Given the description of an element on the screen output the (x, y) to click on. 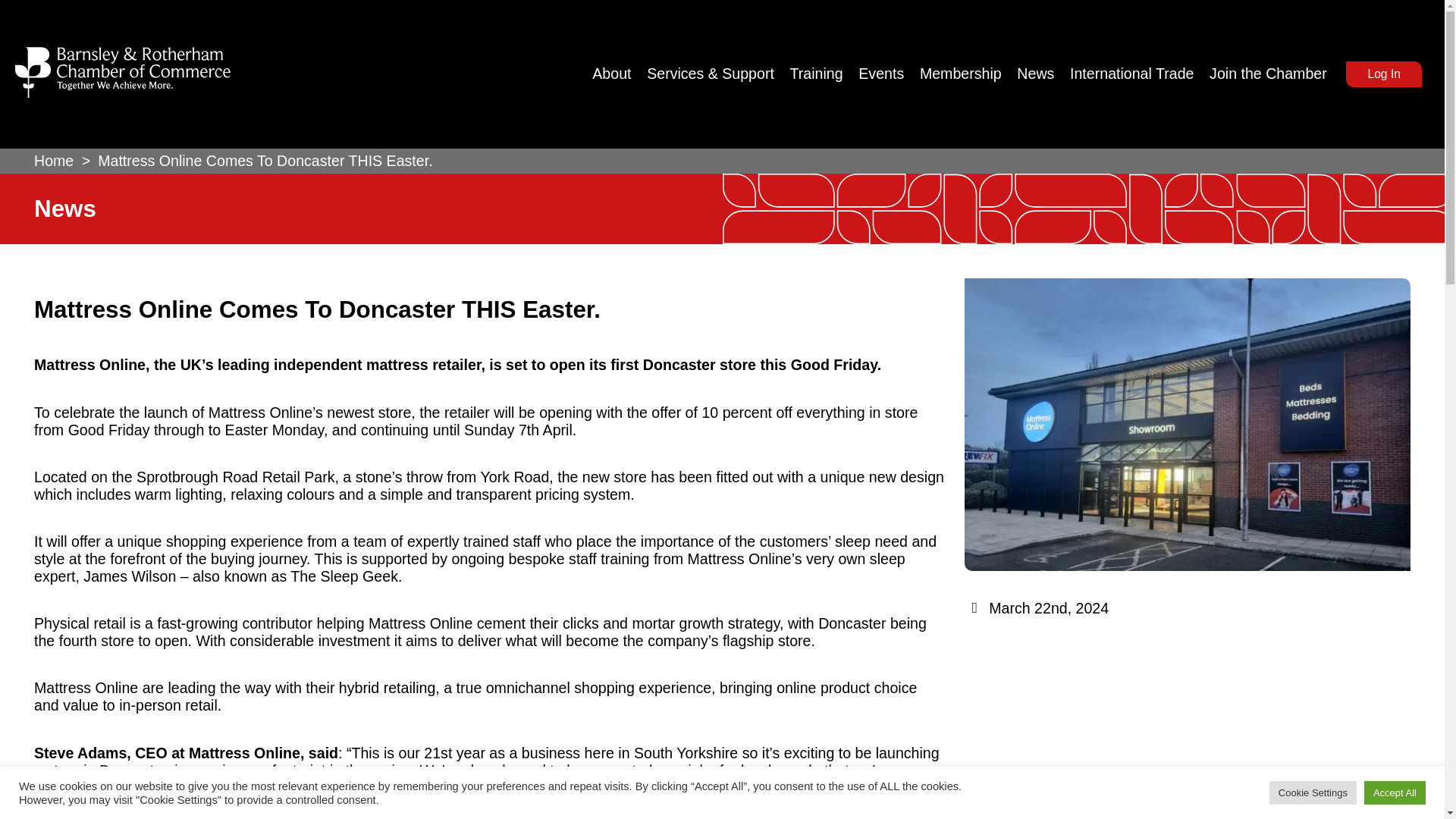
Events (887, 73)
Membership (966, 73)
Sign up (795, 573)
About (617, 73)
Training (823, 73)
